Given the description of an element on the screen output the (x, y) to click on. 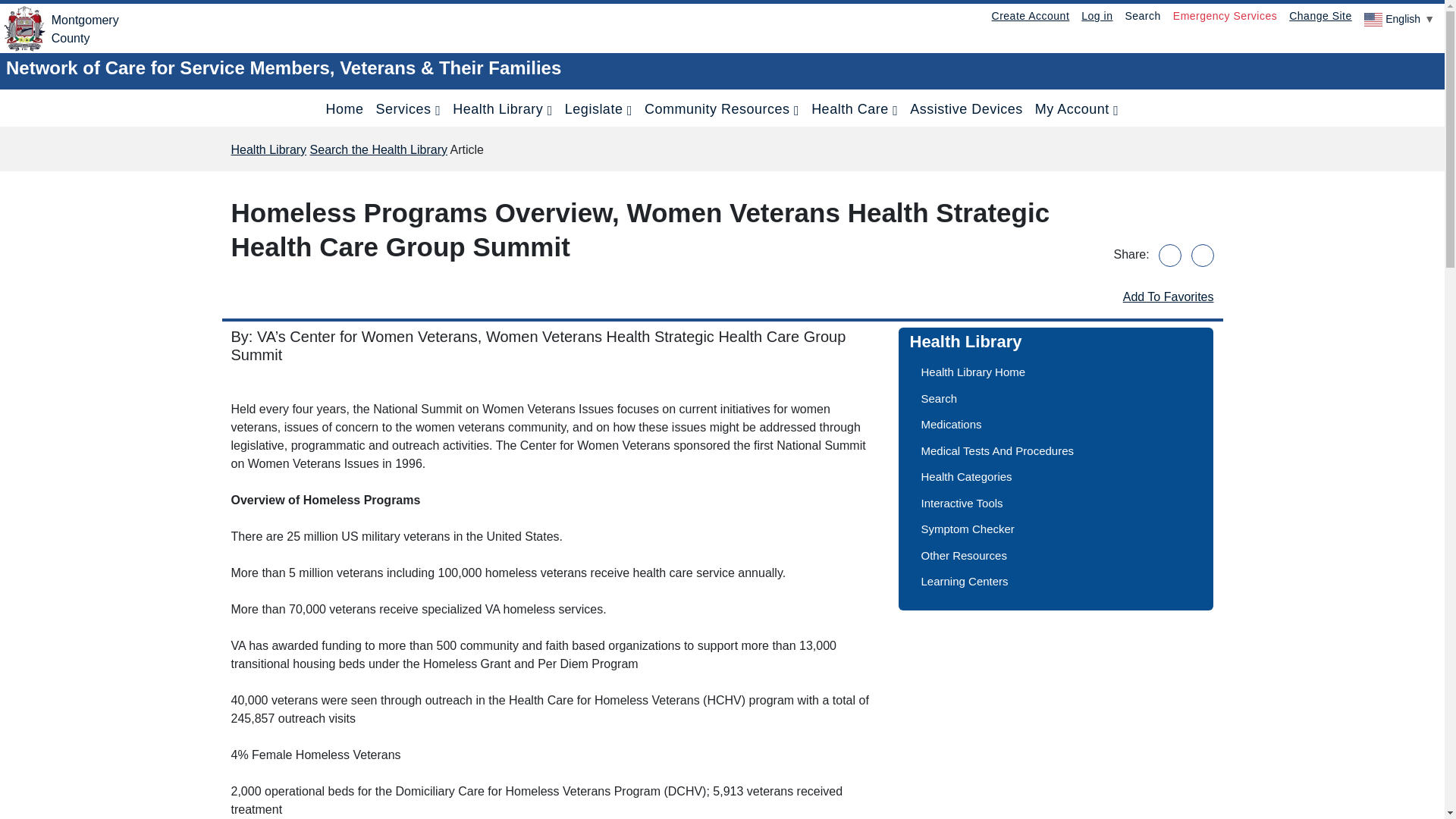
Log in (1096, 15)
Emergency Services (1224, 15)
Share this page as a text (59, 28)
Change Site (1201, 255)
Search (1320, 15)
Create Account (1142, 15)
Share this page as an email (1030, 15)
